Given the description of an element on the screen output the (x, y) to click on. 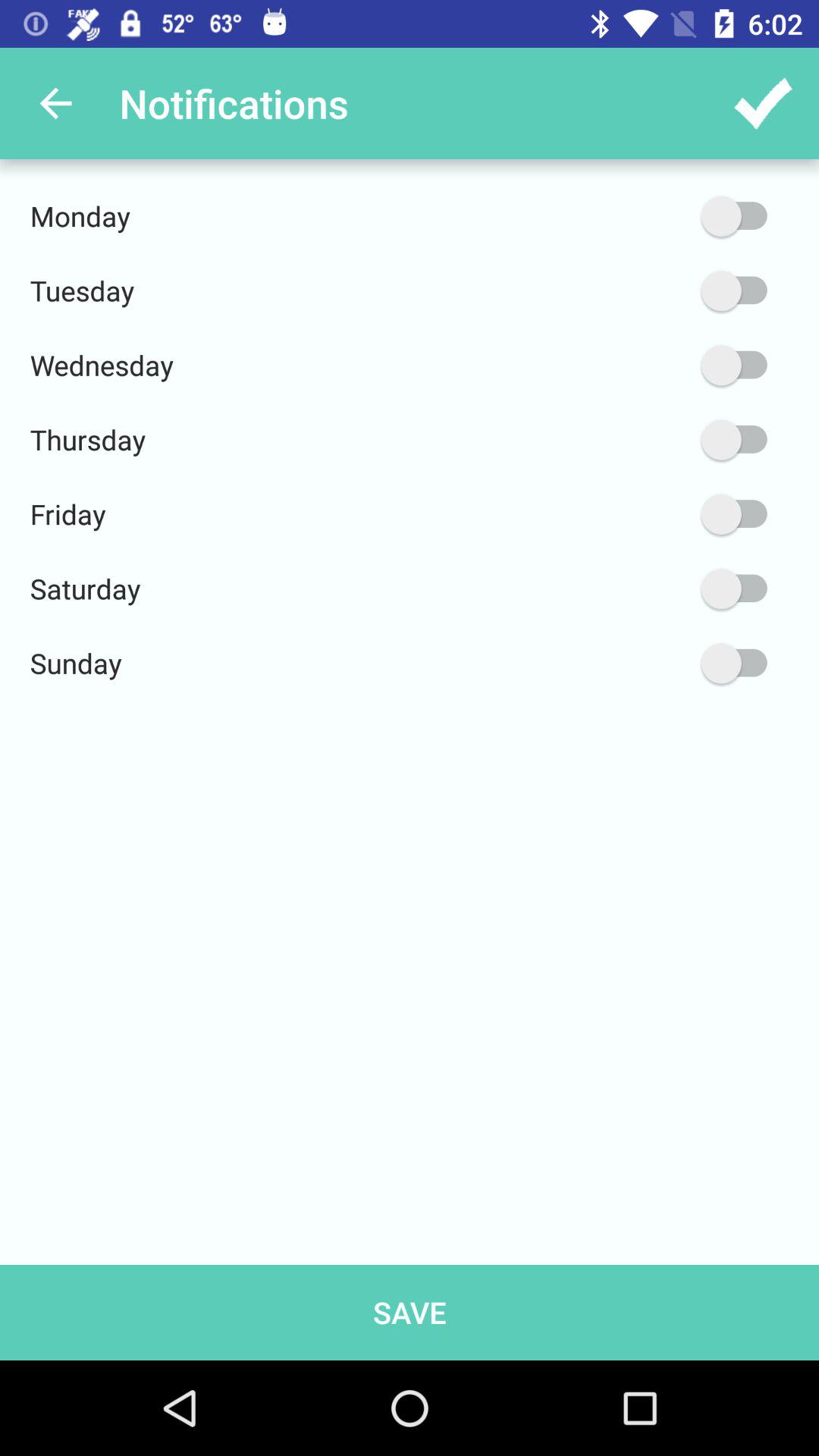
toggle auto notifiacions only on thursday (661, 439)
